Given the description of an element on the screen output the (x, y) to click on. 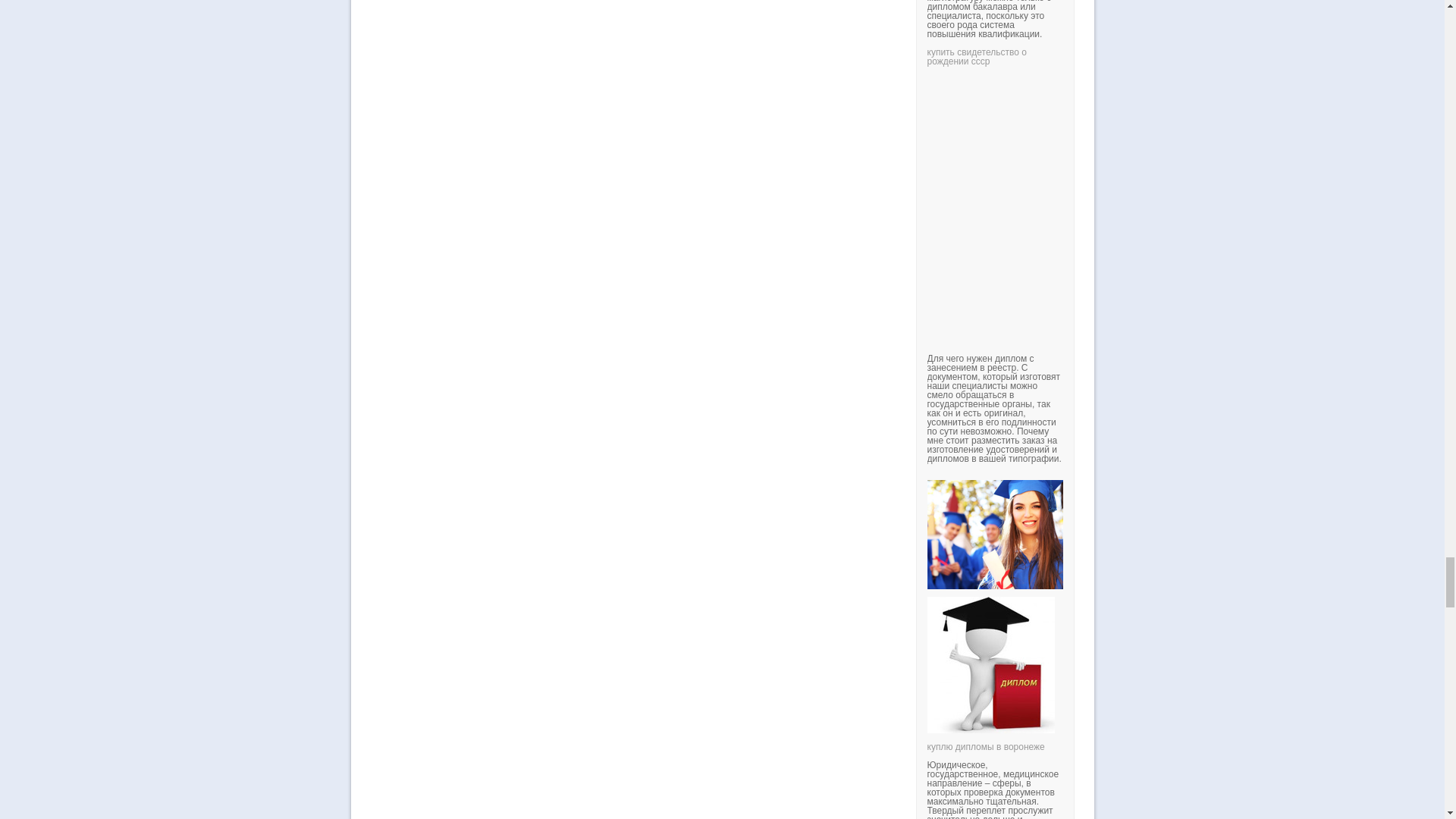
YouTube video player (1138, 194)
